Given the description of an element on the screen output the (x, y) to click on. 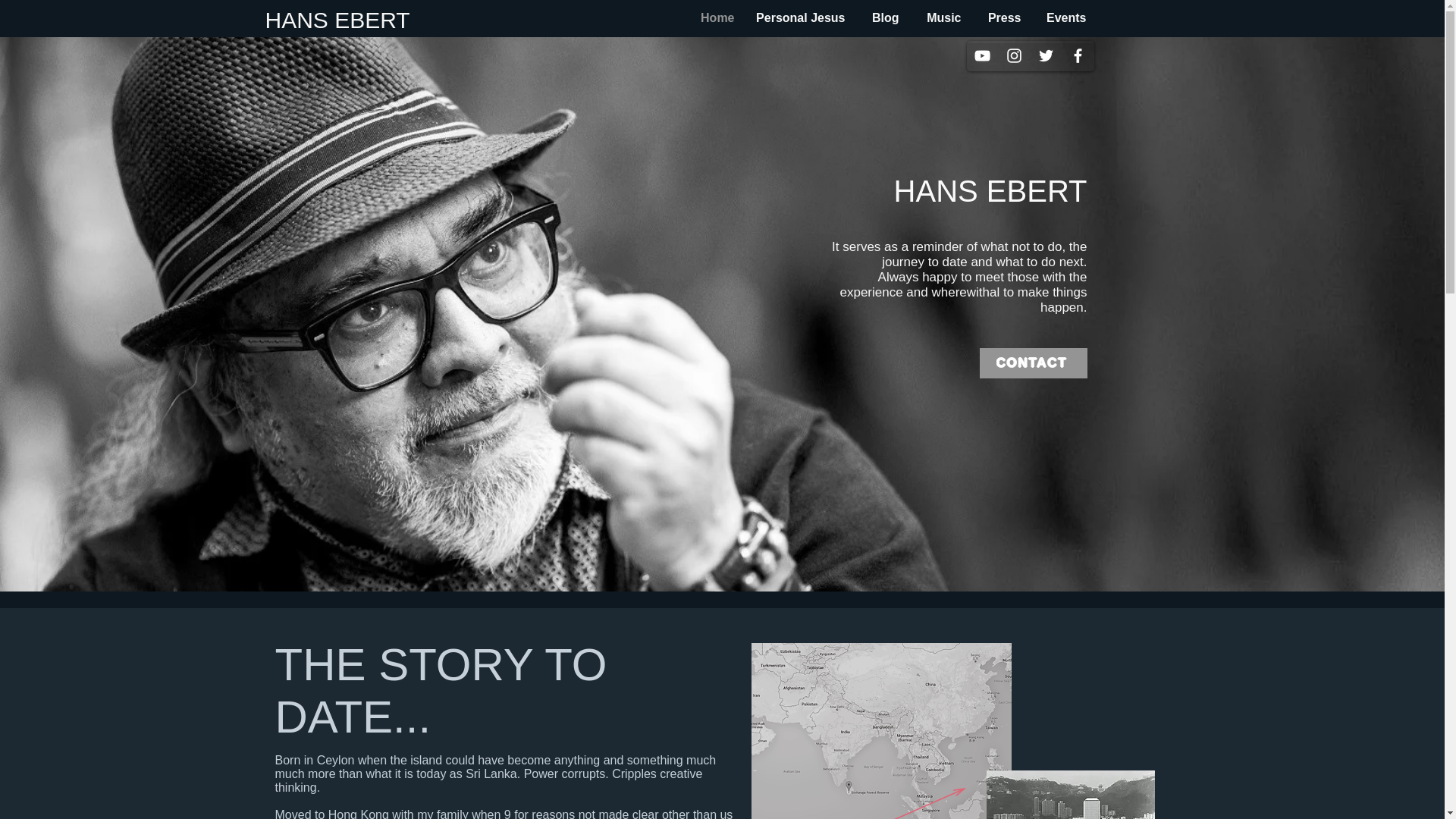
Events (1060, 17)
Press (999, 17)
HANS EBERT (337, 20)
Home (711, 17)
Personal Jesus (796, 17)
Blog (878, 17)
CONTACT (1033, 363)
Music (938, 17)
